Given the description of an element on the screen output the (x, y) to click on. 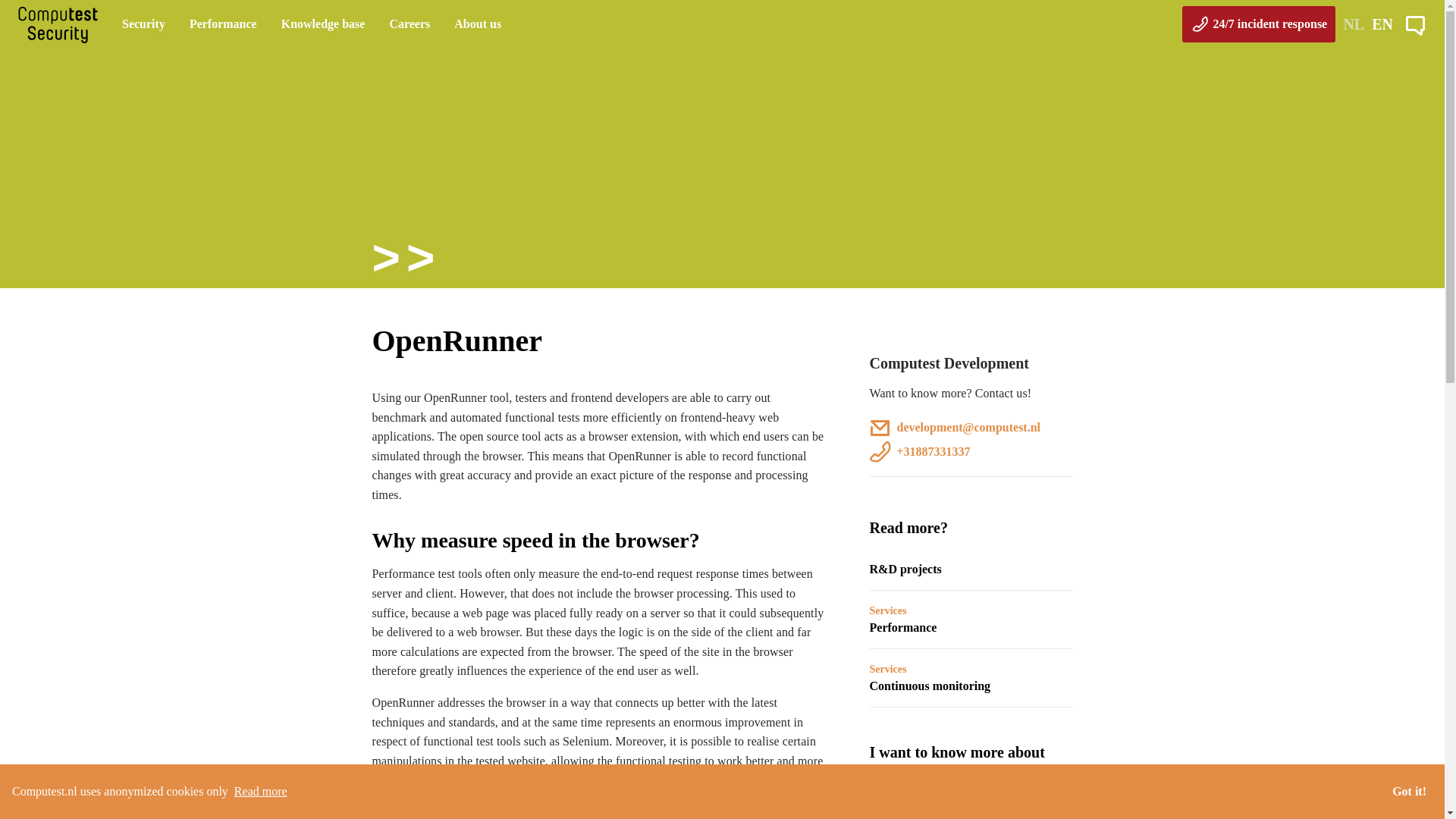
Knowledge base (323, 23)
Read more (257, 791)
About us (477, 23)
Security (143, 23)
Contact page (1415, 24)
Careers (408, 23)
Services (887, 668)
Got it! (1409, 791)
Performance (223, 23)
Services (887, 610)
